Given the description of an element on the screen output the (x, y) to click on. 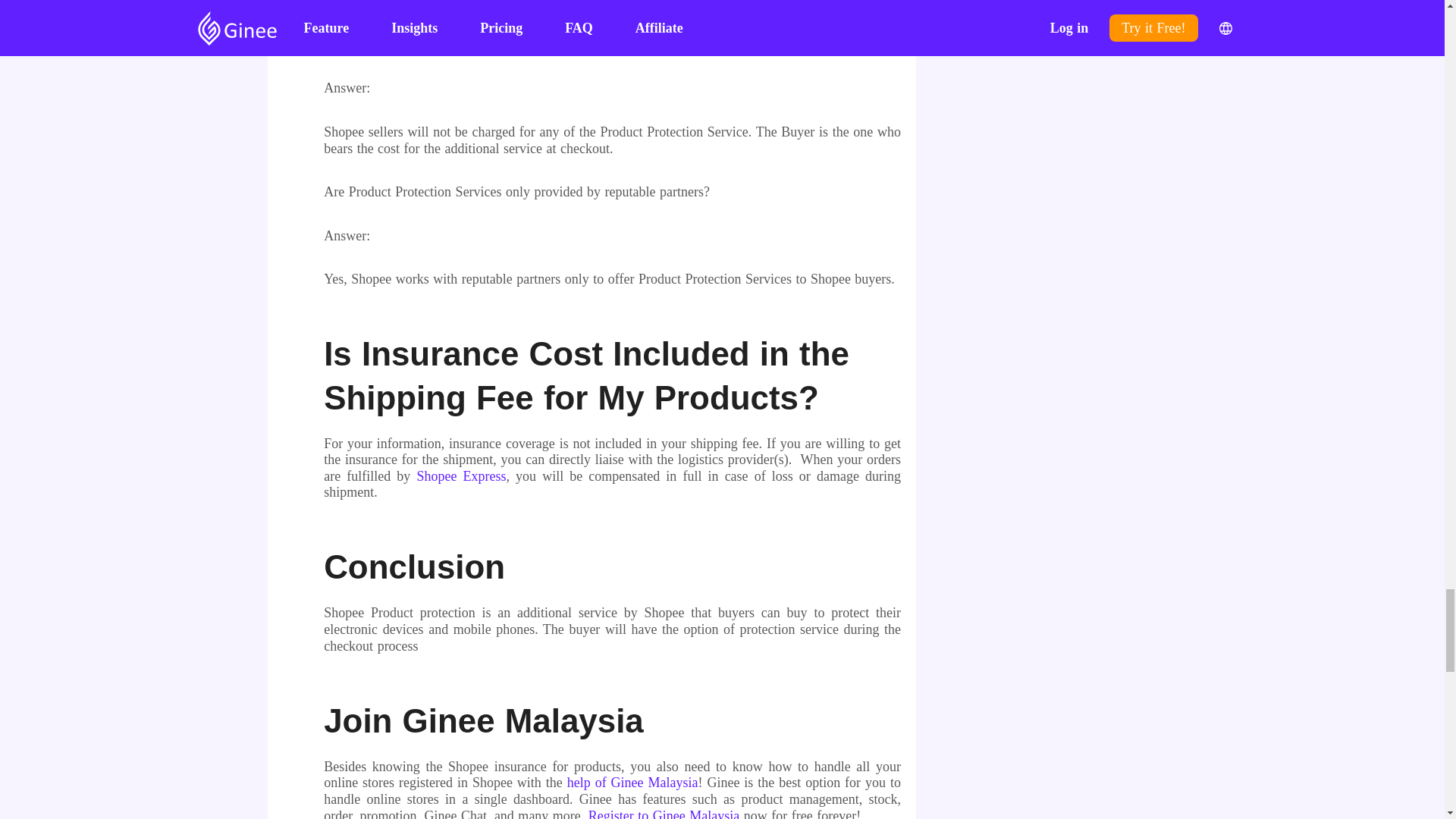
help of Ginee Malaysia (632, 782)
Register to Ginee Malaysia (663, 813)
Shopee Express (460, 476)
